Given the description of an element on the screen output the (x, y) to click on. 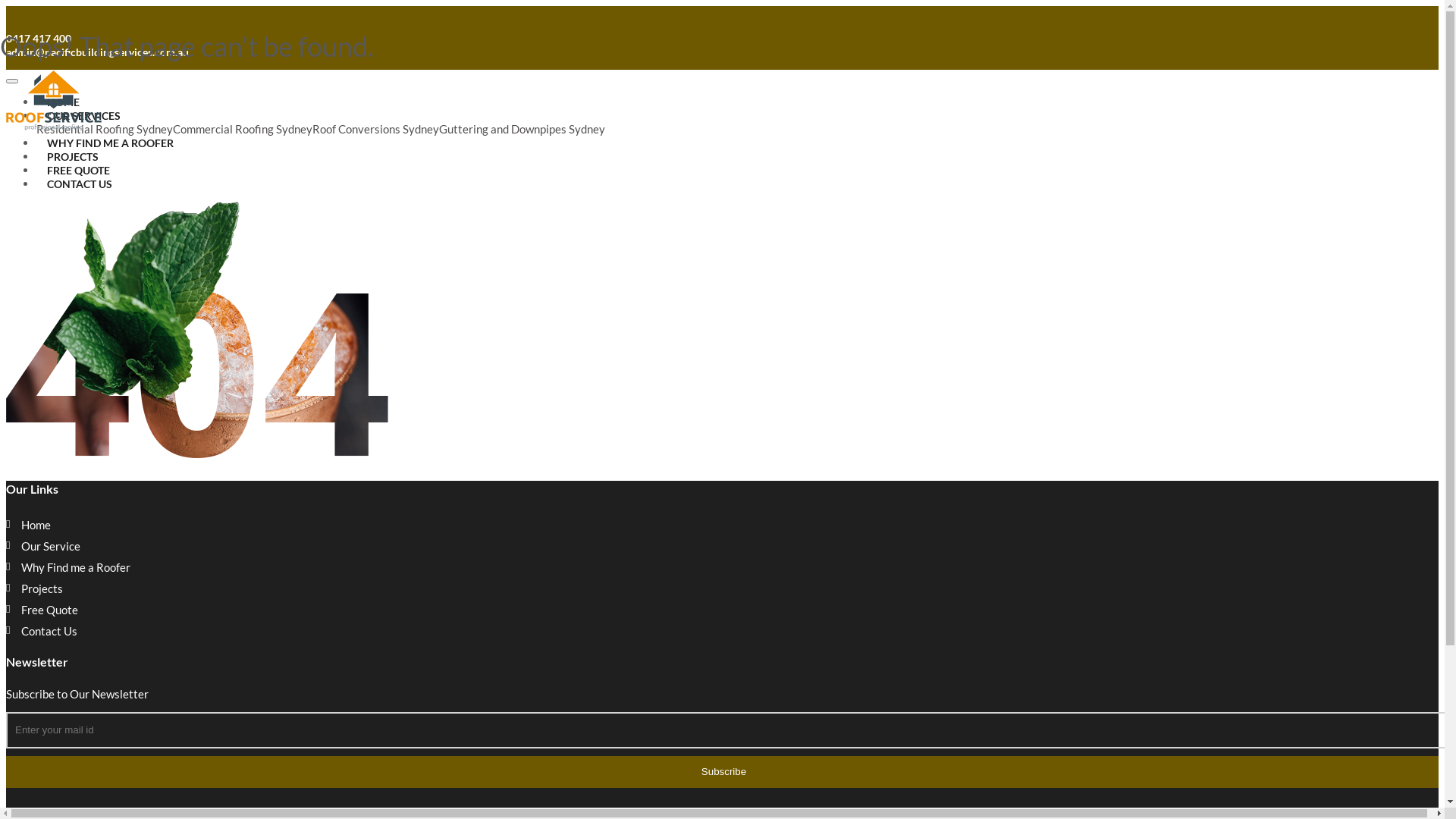
Residential Roofing Sydney Element type: text (104, 128)
Free Quote Element type: text (49, 609)
admin@pacificbuildingservices.com.au Element type: text (97, 51)
Our Service Element type: text (50, 545)
Contact Us Element type: text (49, 630)
HOME Element type: text (63, 101)
Guttering and Downpipes Sydney Element type: text (522, 128)
Why Find me a Roofer Element type: text (75, 567)
Projects Element type: text (41, 588)
Commercial Roofing Sydney Element type: text (242, 128)
FREE QUOTE Element type: text (78, 170)
0417 417 400 Element type: text (38, 37)
WHY FIND ME A ROOFER Element type: text (110, 142)
Subscribe Element type: text (722, 771)
Home Element type: text (35, 524)
Roof Conversions Sydney Element type: text (375, 128)
OUR SERVICES Element type: text (83, 115)
CONTACT US Element type: text (79, 183)
PROJECTS Element type: text (72, 156)
